Given the description of an element on the screen output the (x, y) to click on. 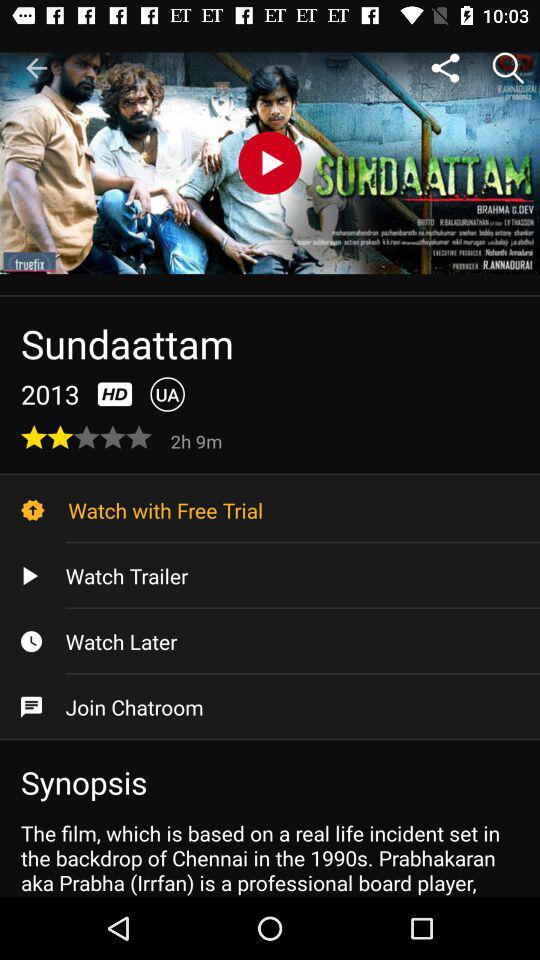
flip until the join chatroom item (270, 707)
